Given the description of an element on the screen output the (x, y) to click on. 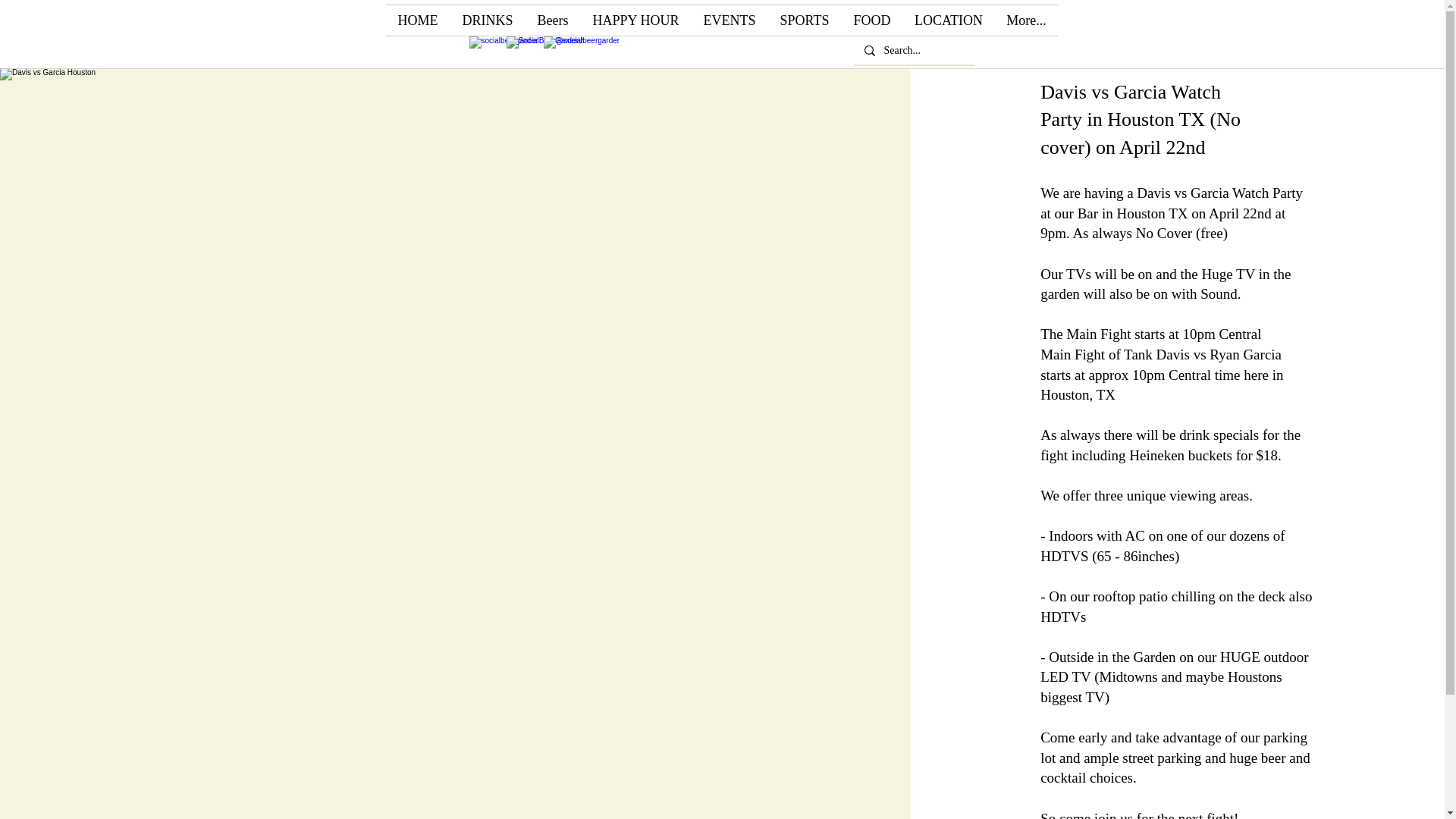
EVENTS (729, 20)
Beers (551, 20)
HOME (417, 20)
LOCATION (948, 20)
FOOD (871, 20)
DRINKS (487, 20)
HAPPY HOUR (635, 20)
SPORTS (804, 20)
So come join us for the next fight (1137, 814)
